Given the description of an element on the screen output the (x, y) to click on. 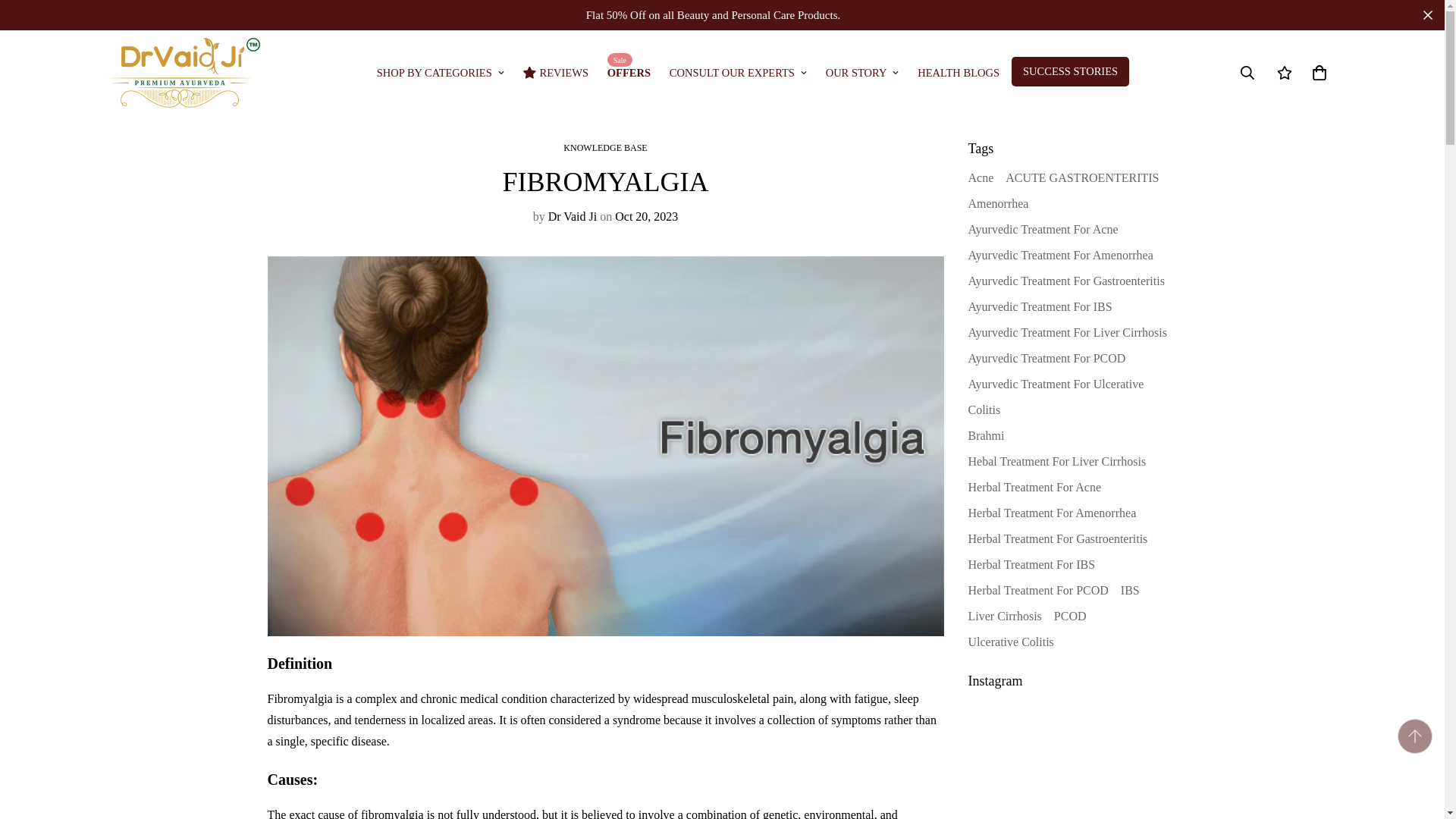
SHOP BY CATEGORIES (442, 72)
Dr Vaid Ji (183, 72)
